Given the description of an element on the screen output the (x, y) to click on. 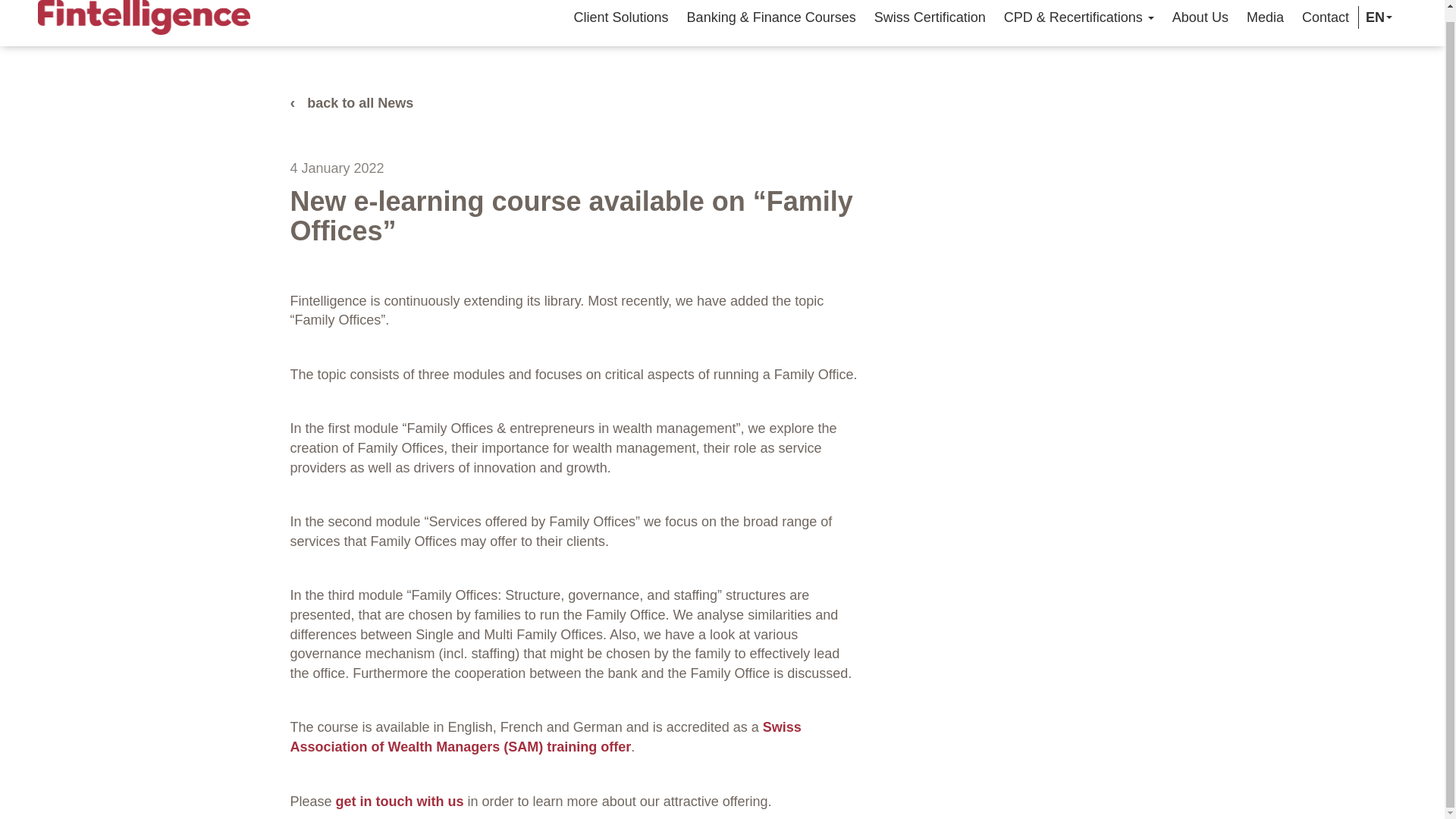
Contact (1325, 16)
About Us (1200, 16)
Media (1264, 16)
About Us (1200, 16)
Swiss Certification (929, 16)
get in touch with us (400, 801)
Media (1264, 16)
EN (1376, 16)
Client Solutions (621, 16)
 EN (1376, 16)
